Given the description of an element on the screen output the (x, y) to click on. 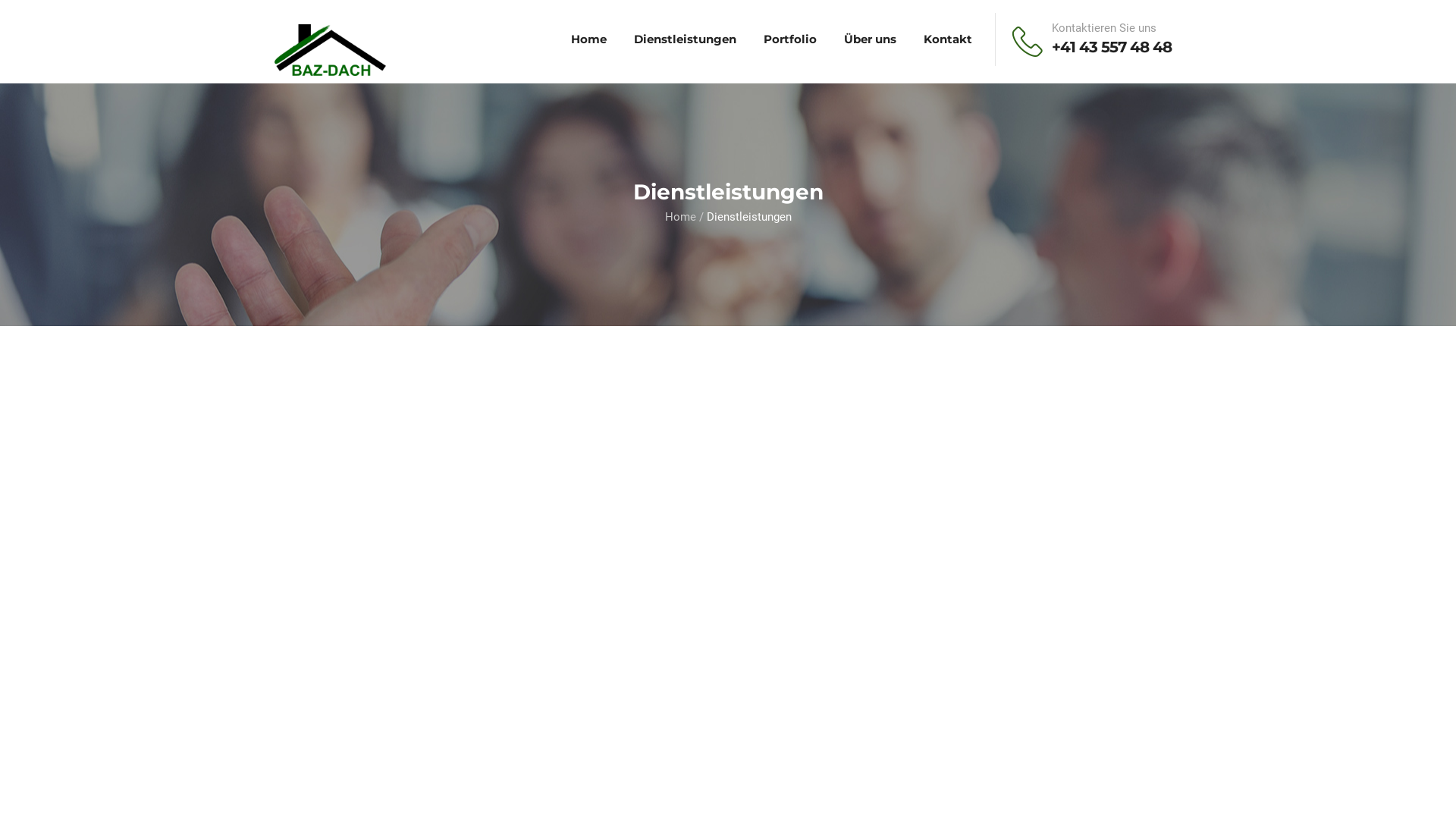
Portfolio Element type: text (789, 39)
Home Element type: text (679, 216)
Kontakt Element type: text (947, 39)
Home Element type: text (588, 39)
Dienstleistungen Element type: text (684, 39)
